Given the description of an element on the screen output the (x, y) to click on. 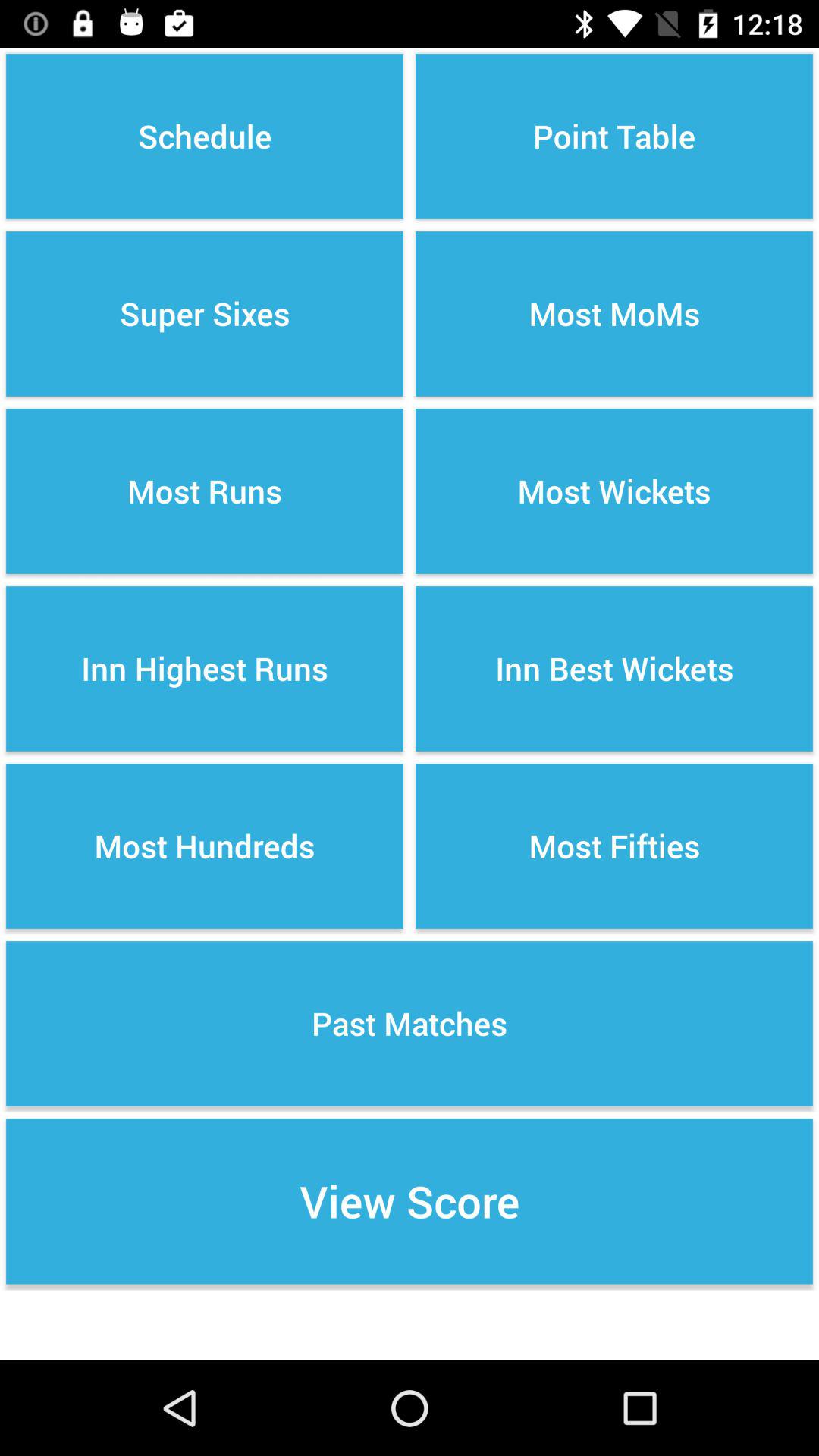
click item above the most runs item (204, 313)
